Given the description of an element on the screen output the (x, y) to click on. 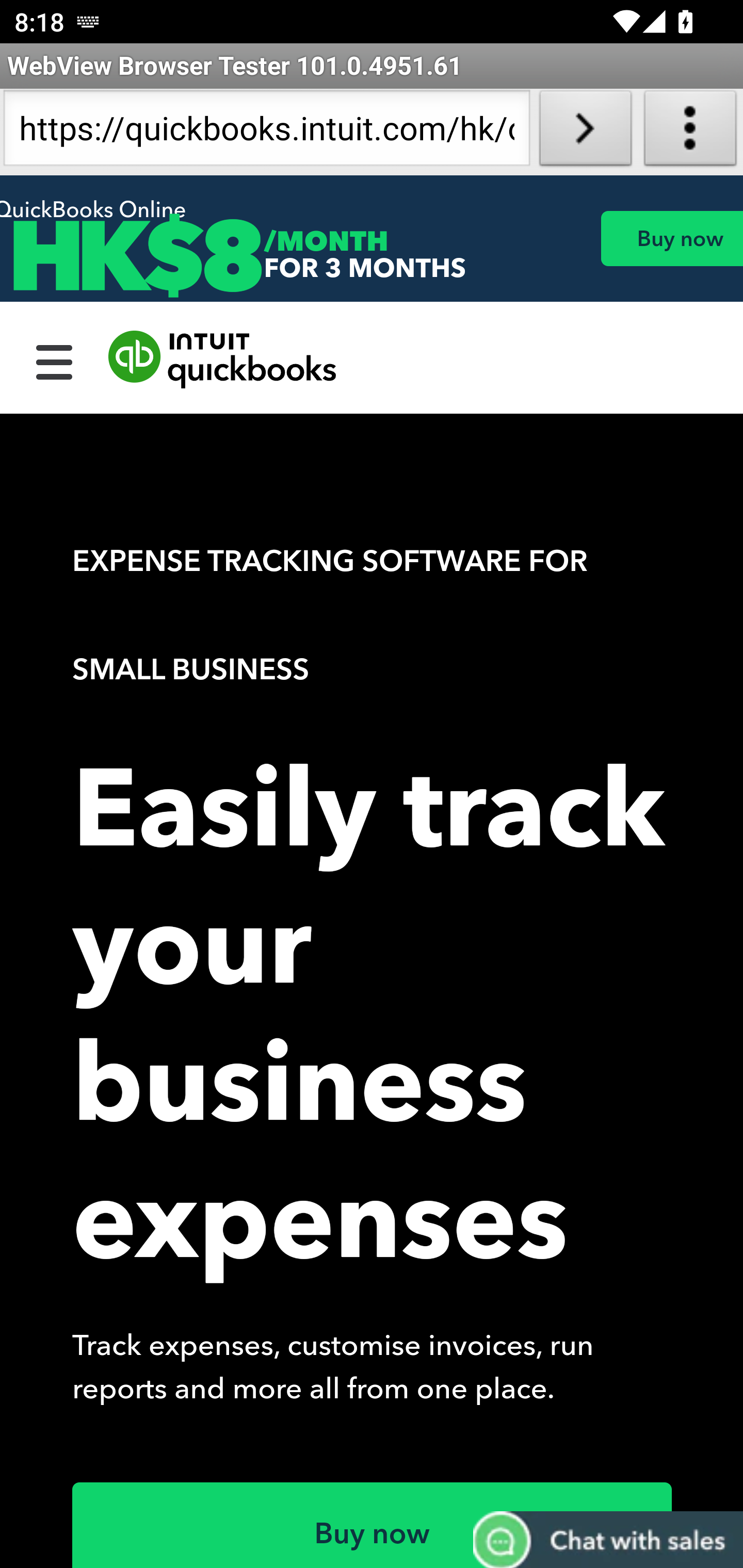
Load URL (585, 132)
About WebView (690, 132)
Buy now (671, 238)
quickbooks-mobile-burger (54, 359)
quickbooks (222, 359)
Buy now (372, 1524)
